Given the description of an element on the screen output the (x, y) to click on. 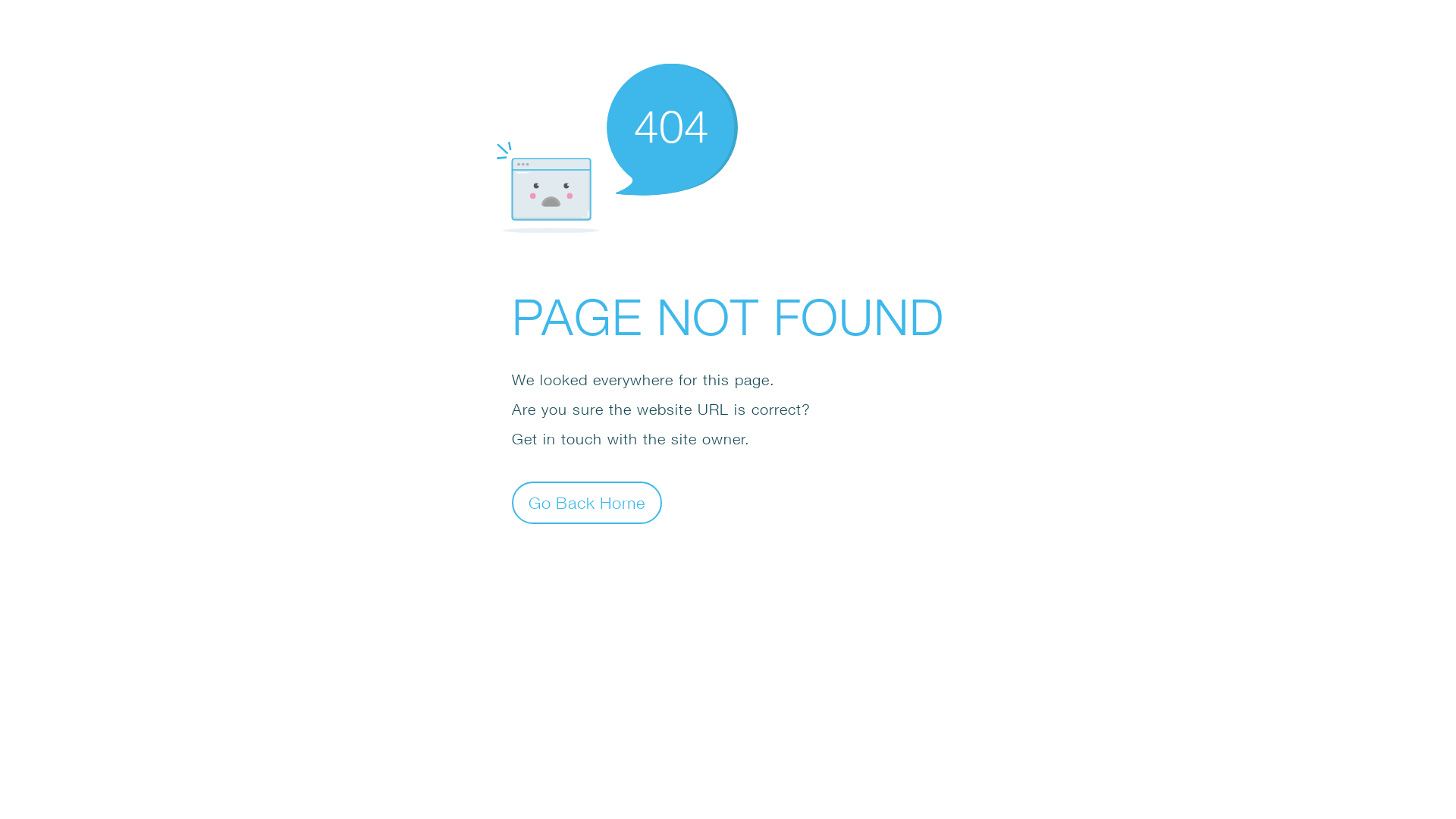
Go Back Home Element type: text (586, 502)
